Given the description of an element on the screen output the (x, y) to click on. 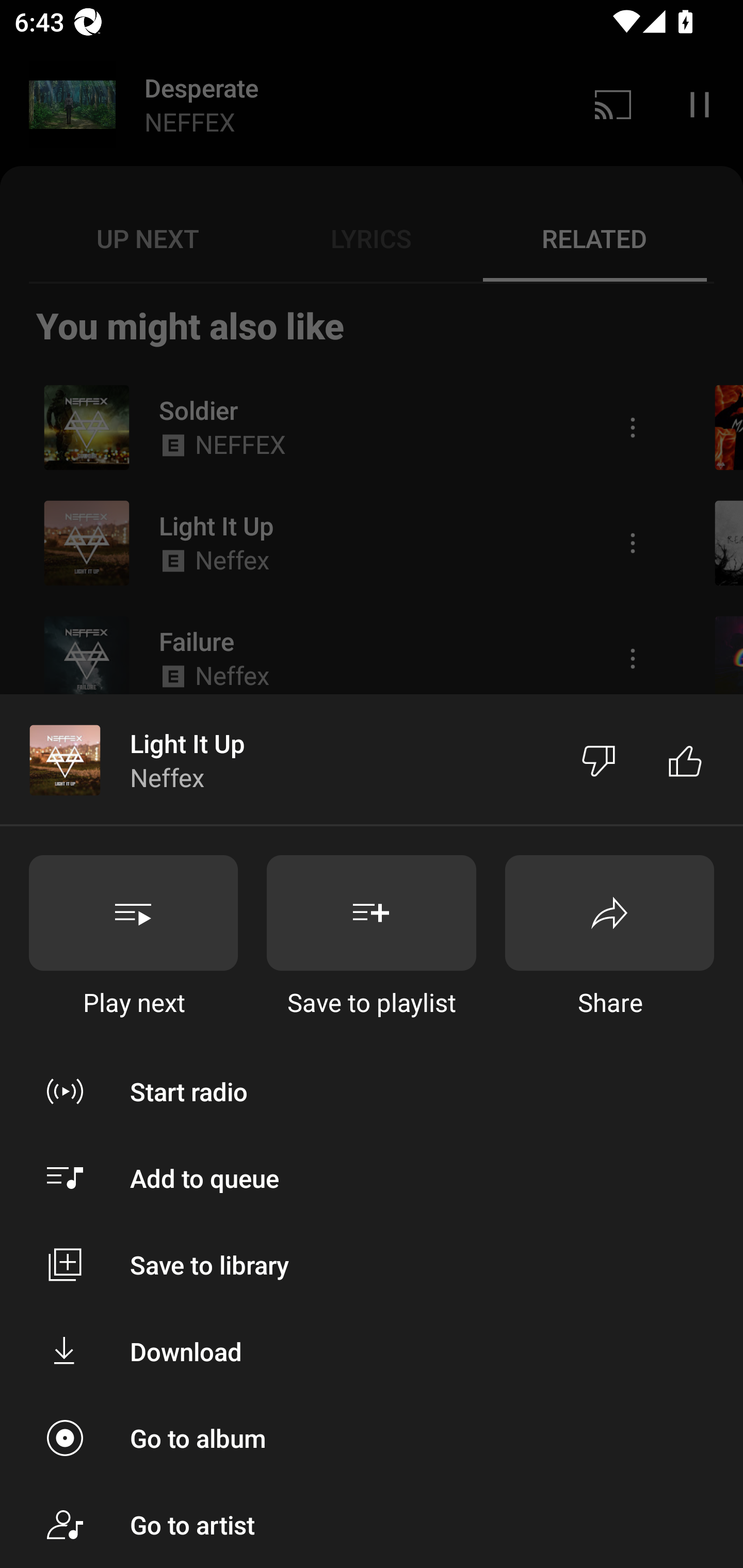
Dislike (598, 759)
Like (684, 759)
Start radio (371, 1091)
Add to queue (371, 1178)
Save to library (371, 1264)
Download (371, 1350)
Go to album (371, 1437)
Go to artist (371, 1524)
